Given the description of an element on the screen output the (x, y) to click on. 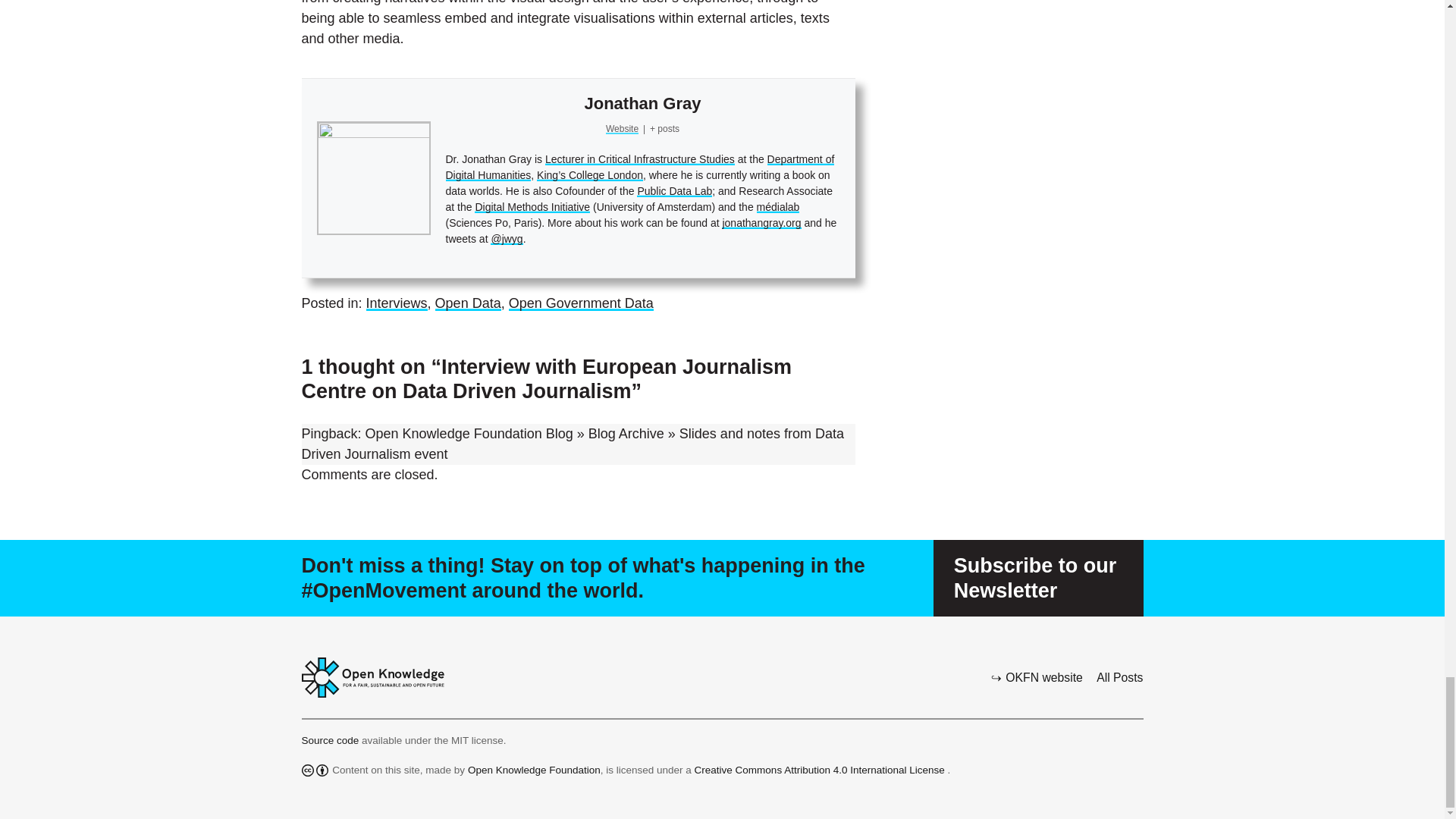
Site source code (331, 740)
cc (307, 770)
by (322, 770)
